Given the description of an element on the screen output the (x, y) to click on. 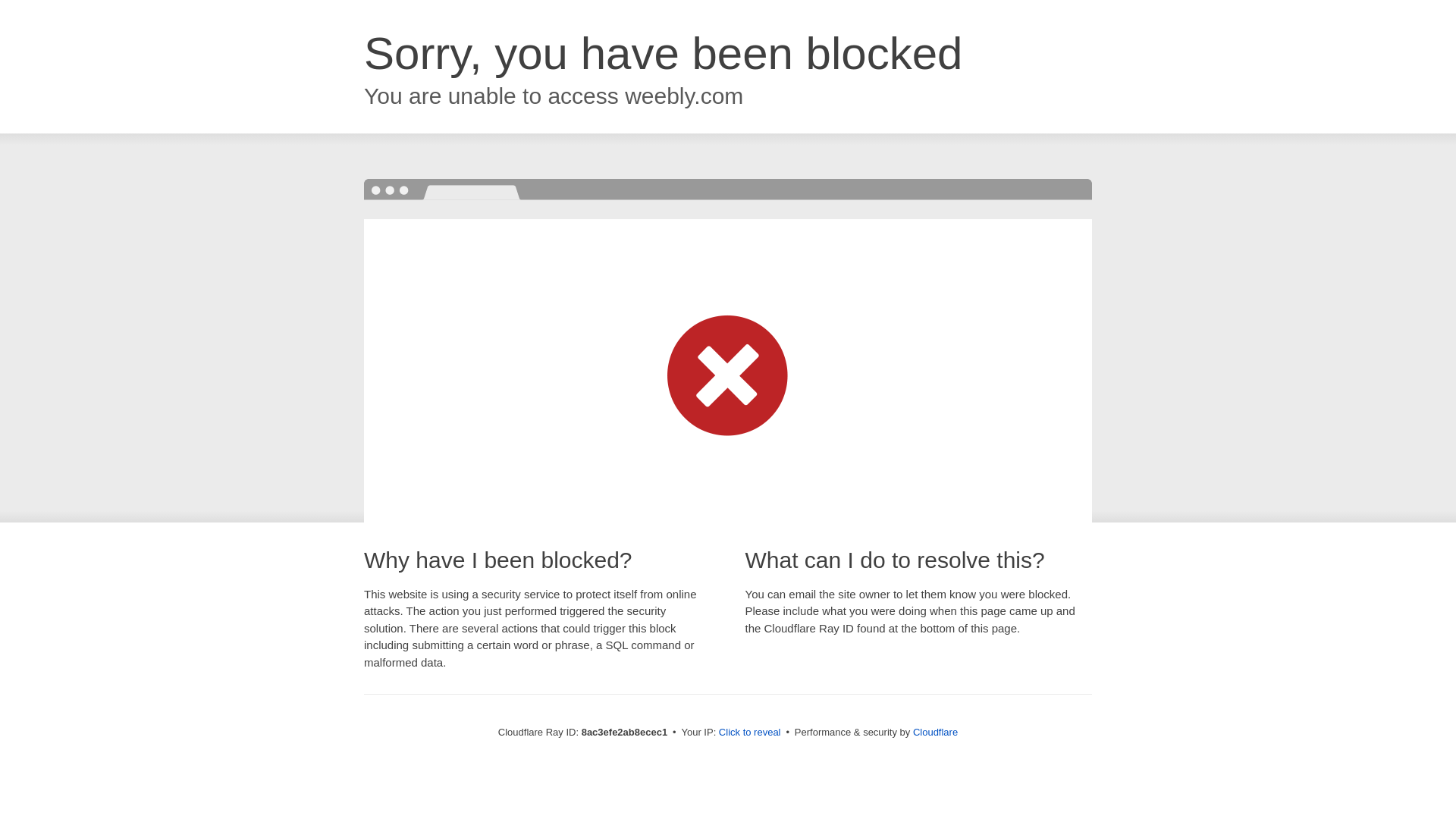
Click to reveal (749, 732)
Cloudflare (935, 731)
